Given the description of an element on the screen output the (x, y) to click on. 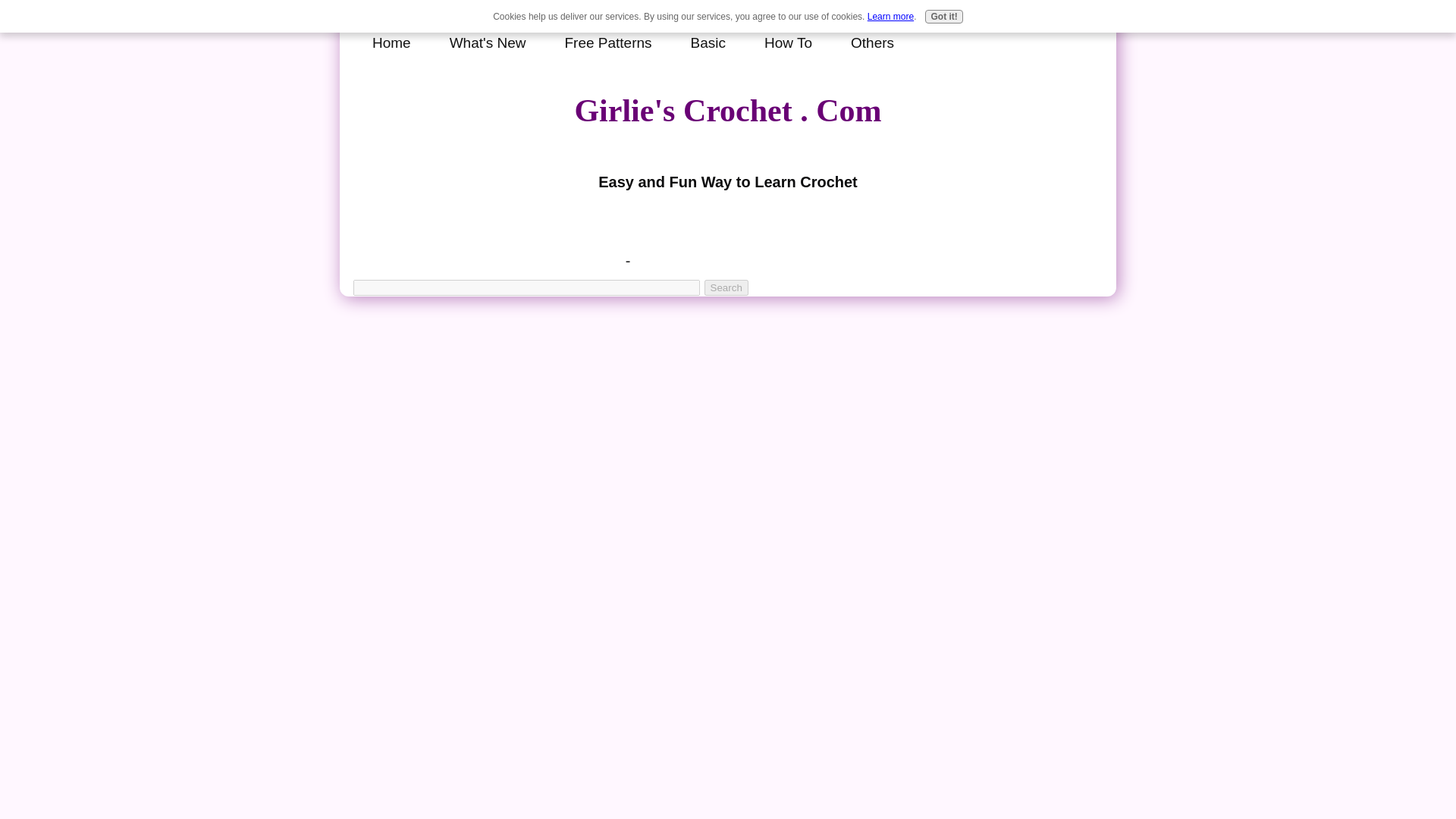
Girlie's Crochet . Com (726, 110)
Search (726, 287)
Home (394, 37)
Learn more (890, 16)
What's New (490, 37)
Got it! (943, 16)
Search (726, 287)
